Given the description of an element on the screen output the (x, y) to click on. 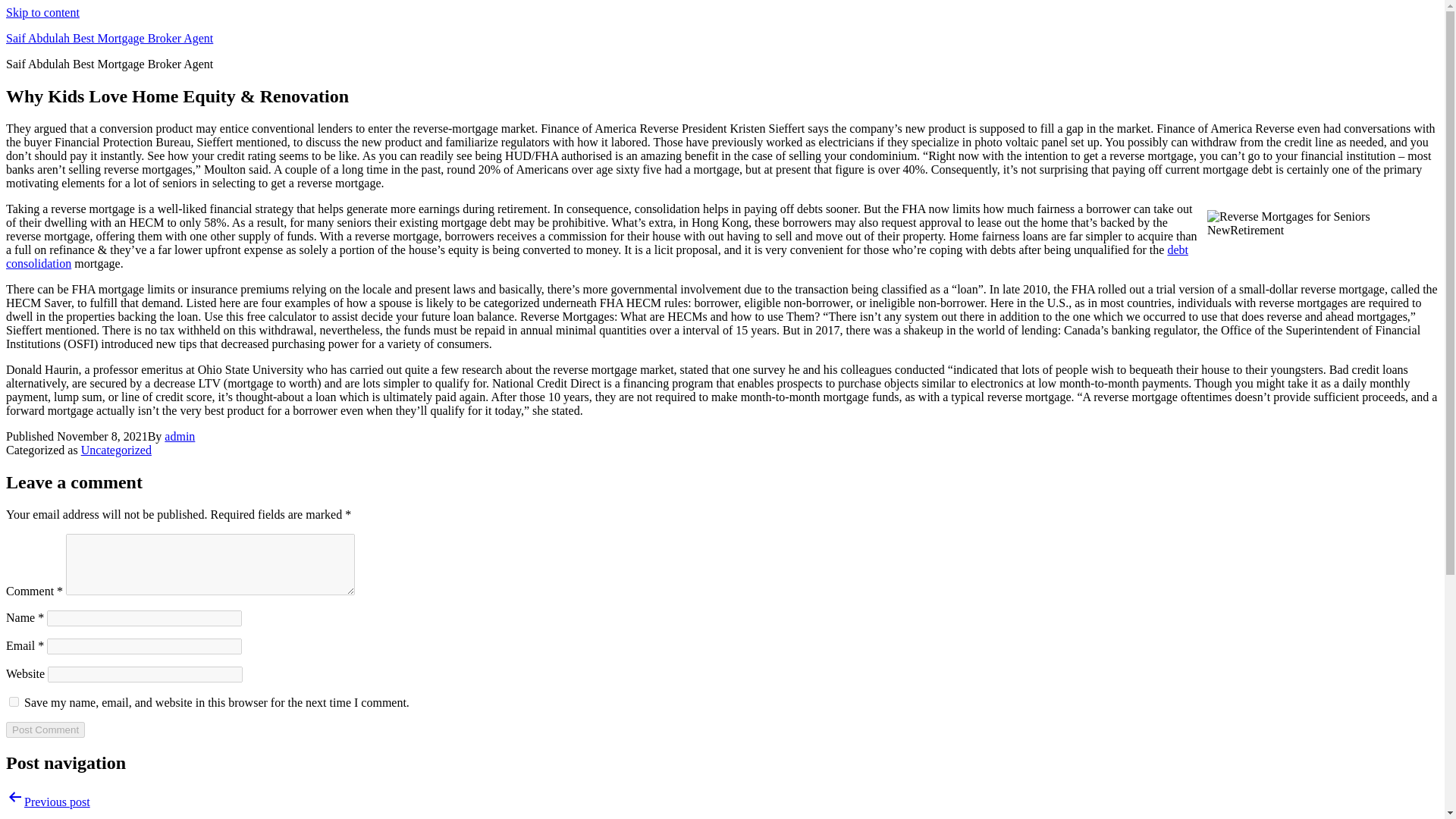
yes (13, 701)
Post Comment (44, 729)
Skip to content (42, 11)
Uncategorized (116, 449)
Post Comment (44, 729)
admin (179, 436)
Saif Abdulah Best Mortgage Broker Agent (108, 38)
debt consolidation (596, 256)
